Given the description of an element on the screen output the (x, y) to click on. 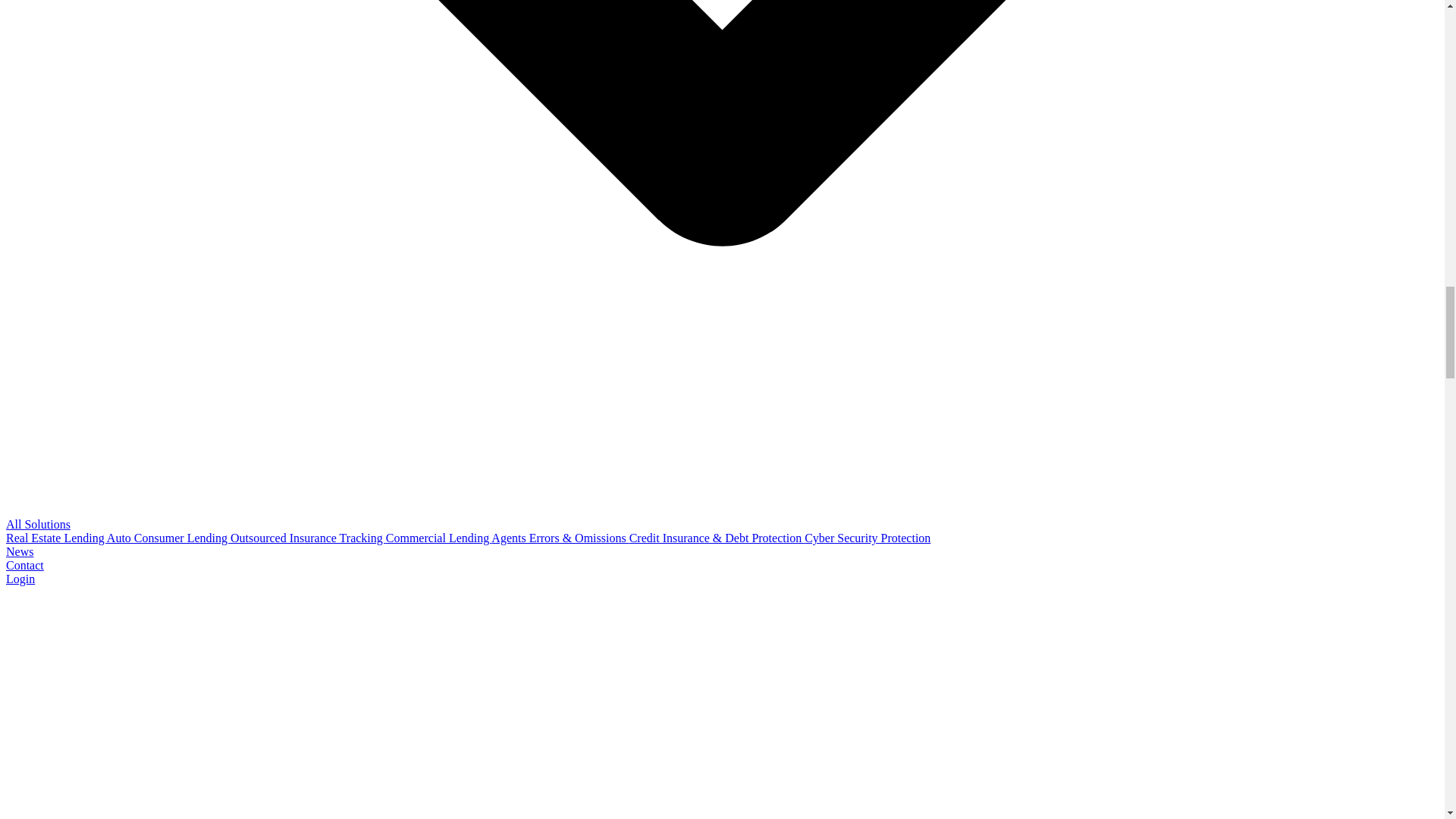
Real Estate Lending (55, 537)
Contact (24, 564)
Auto Consumer Lending (168, 537)
Outsourced Insurance Tracking (307, 537)
News (19, 551)
All Solutions (37, 523)
Commercial Lending (438, 537)
Cyber Security Protection (867, 537)
